Given the description of an element on the screen output the (x, y) to click on. 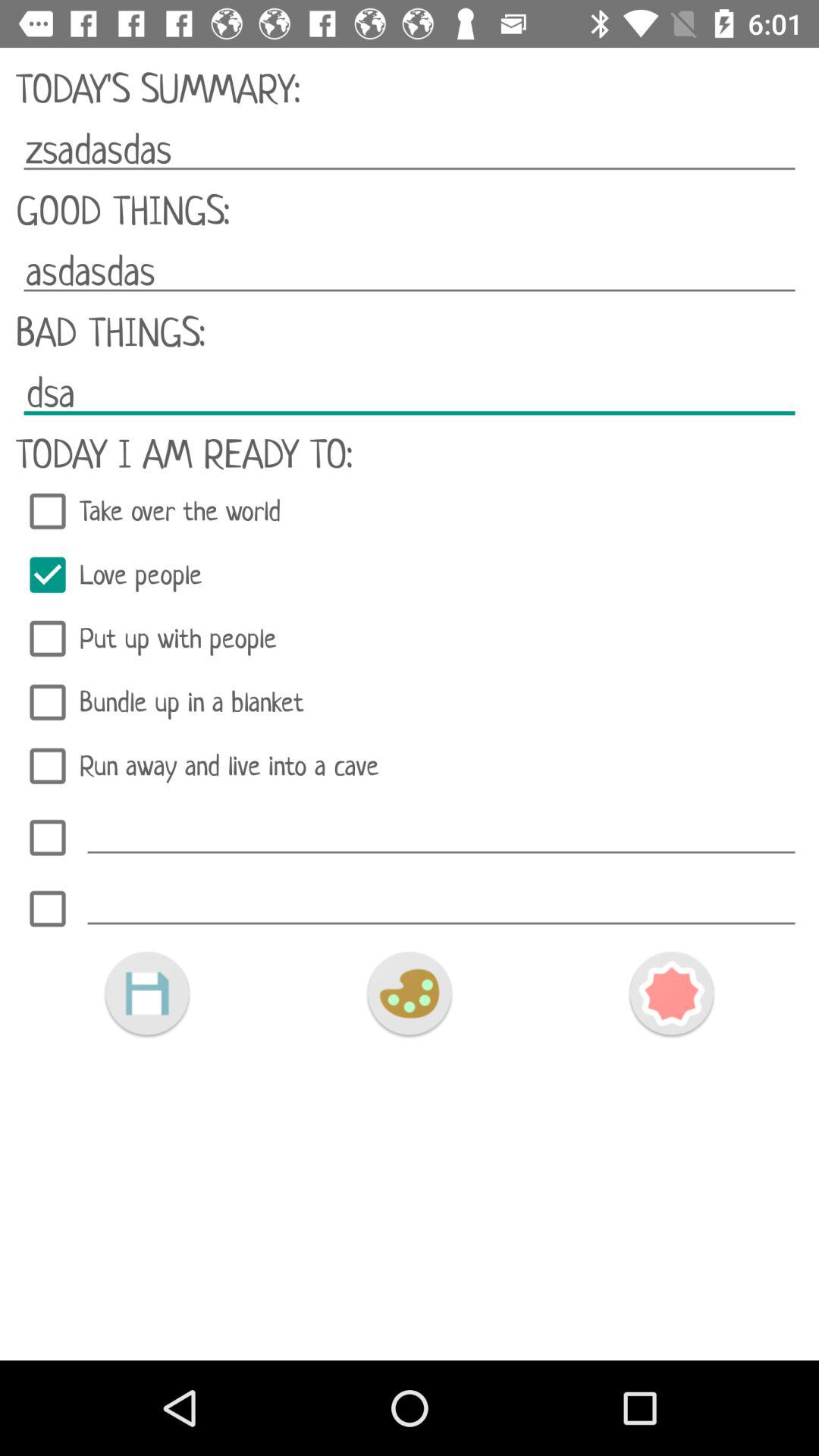
open item below put up with icon (409, 702)
